Given the description of an element on the screen output the (x, y) to click on. 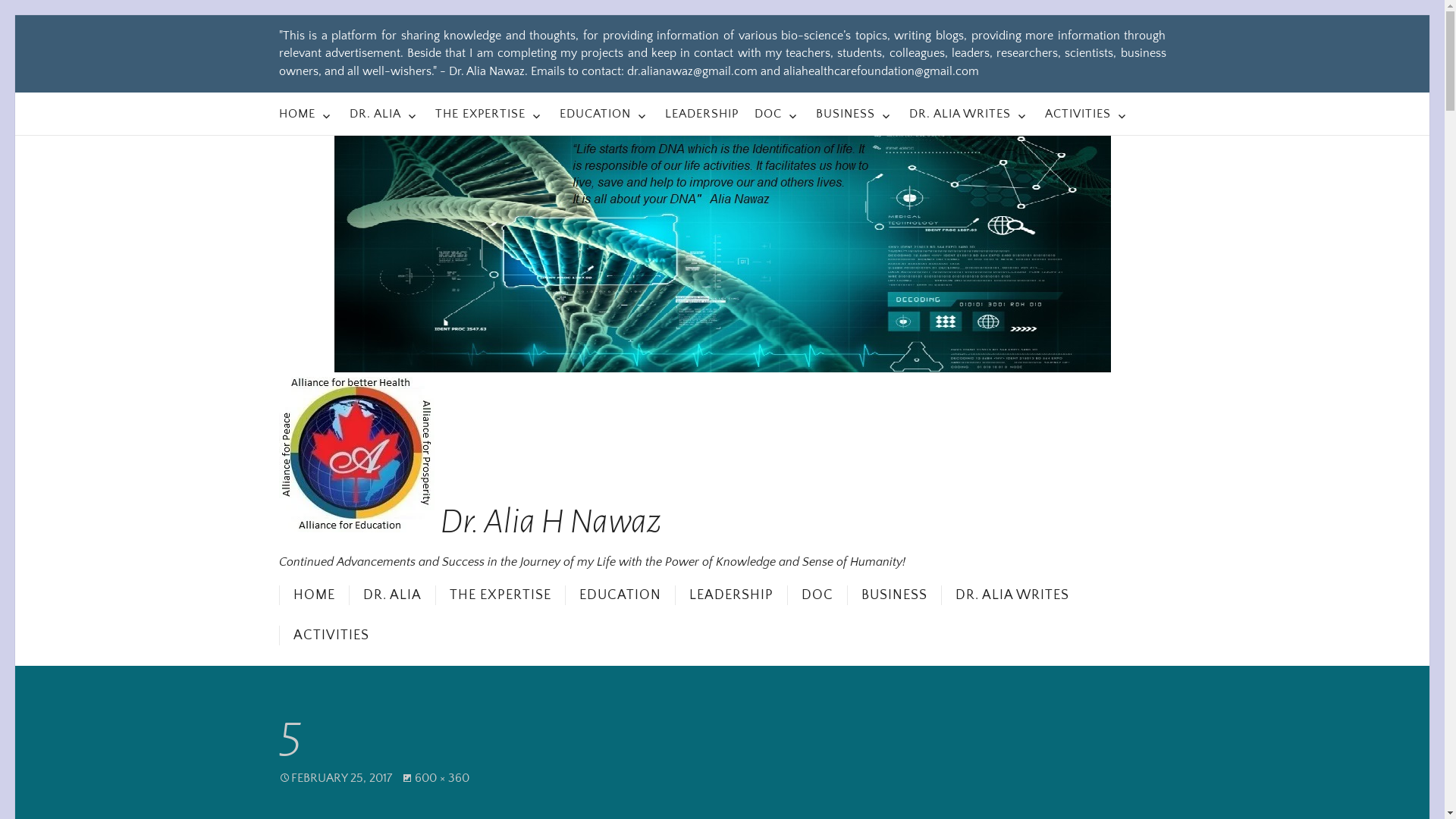
LEADERSHIP Element type: text (700, 113)
ACTIVITIES Element type: text (1086, 113)
BUSINESS Element type: text (893, 595)
FEBRUARY 25, 2017 Element type: text (341, 777)
HOME Element type: text (306, 113)
THE EXPERTISE Element type: text (489, 113)
DR. ALIA WRITES Element type: text (1011, 595)
Dr. Alia H Nawaz Element type: text (722, 253)
ACTIVITIES Element type: text (330, 635)
DOC Element type: text (776, 113)
DR. ALIA Element type: text (391, 595)
Dr. Alia H Nawaz Element type: text (470, 462)
LEADERSHIP Element type: text (730, 595)
BUSINESS Element type: text (854, 113)
DR. ALIA Element type: text (383, 113)
THE EXPERTISE Element type: text (499, 595)
EDUCATION Element type: text (604, 113)
EDUCATION Element type: text (619, 595)
Skip to content Element type: text (14, 14)
DOC Element type: text (817, 595)
HOME Element type: text (313, 595)
DR. ALIA WRITES Element type: text (968, 113)
